Given the description of an element on the screen output the (x, y) to click on. 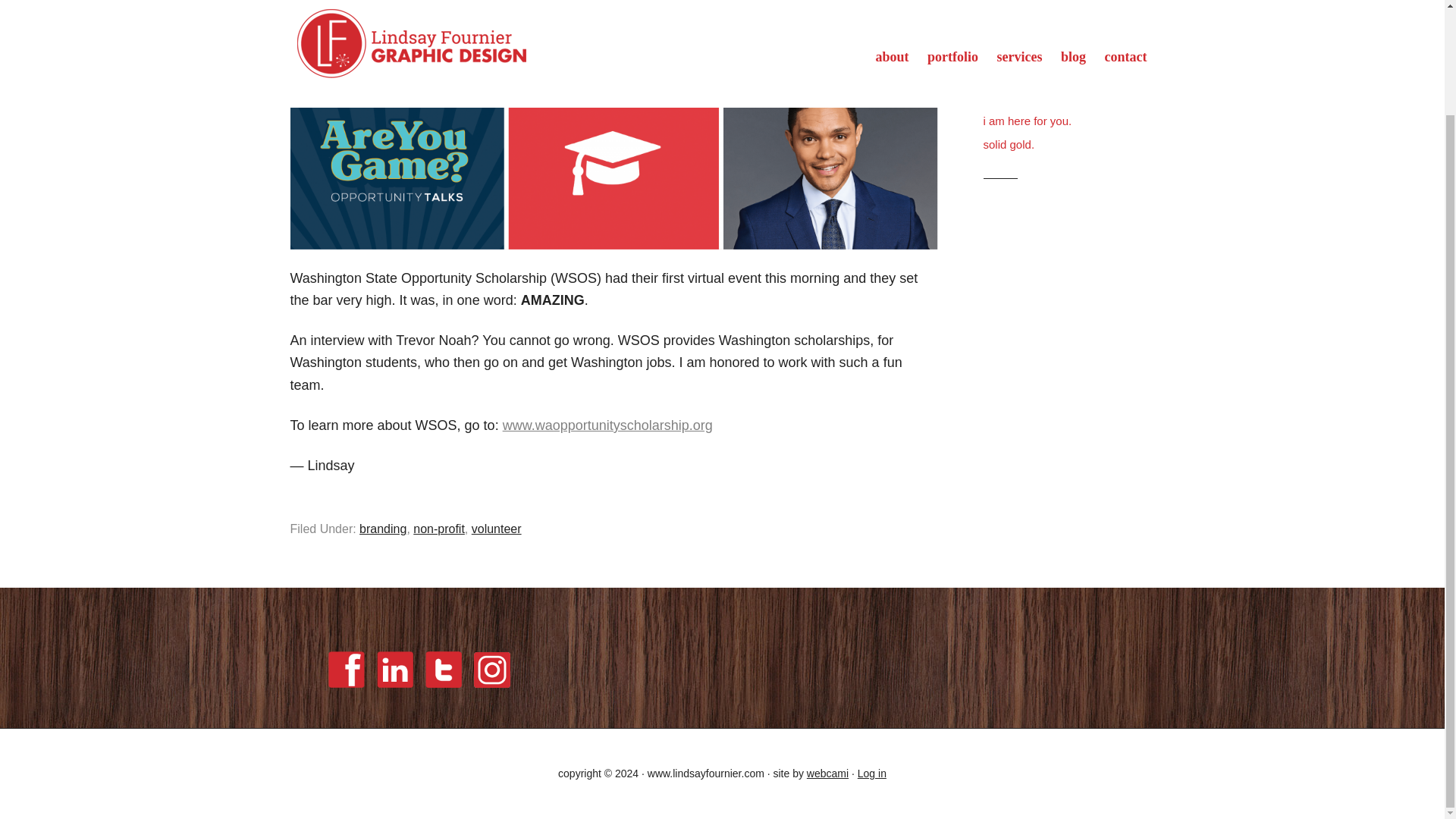
instagram (491, 669)
linkedin (394, 688)
facebook (345, 669)
i had my morning coffee with trevor noah. (1054, 88)
i am here for you. (1026, 120)
instagram (491, 688)
hold me closer tiny dancer. (1050, 33)
Lindsay Fournier (462, 45)
better days are coming. (1042, 56)
facebook (345, 688)
